Given the description of an element on the screen output the (x, y) to click on. 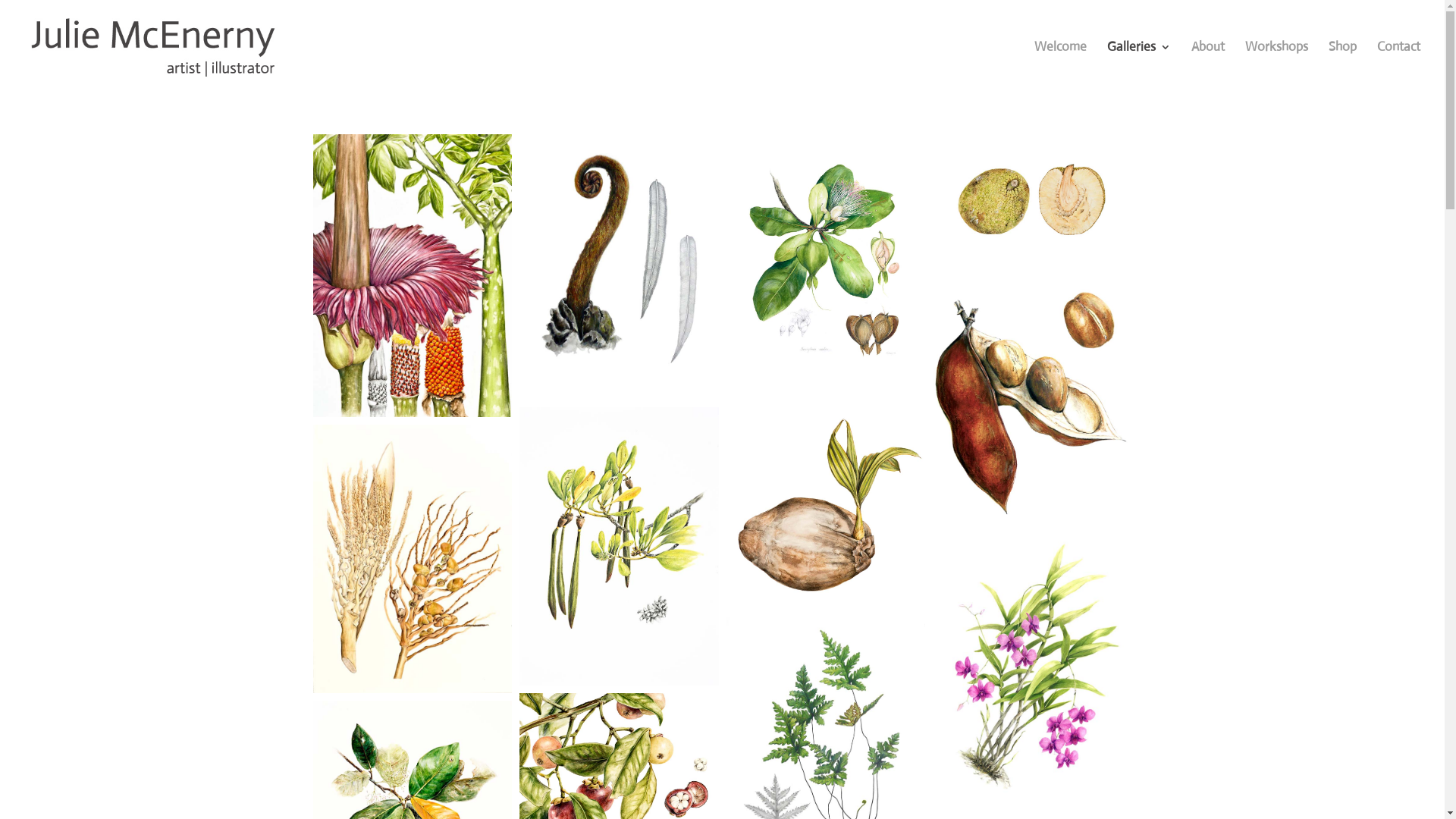
Welcome Element type: text (1060, 67)
Cooktown-Orchid_2019 Element type: hover (1032, 667)
Coconut-Seedling_2013 Element type: hover (825, 508)
Angiopteris-evecta_2016 Element type: hover (618, 266)
Cocos-nucifera_2013 Element type: hover (411, 558)
Breadfruit_2013 Element type: hover (1032, 207)
Castanospermum-australe-seedpod_2009 Element type: hover (1032, 403)
Shop Element type: text (1342, 67)
Ceriops-tagal_2012 Element type: hover (618, 546)
Workshops Element type: text (1276, 67)
Barringtonia-asiatica_2009 Element type: hover (825, 269)
Contact Element type: text (1398, 67)
About Element type: text (1207, 67)
Amorphophallus-titanum-I_2011 Element type: hover (411, 275)
Galleries Element type: text (1138, 67)
